Given the description of an element on the screen output the (x, y) to click on. 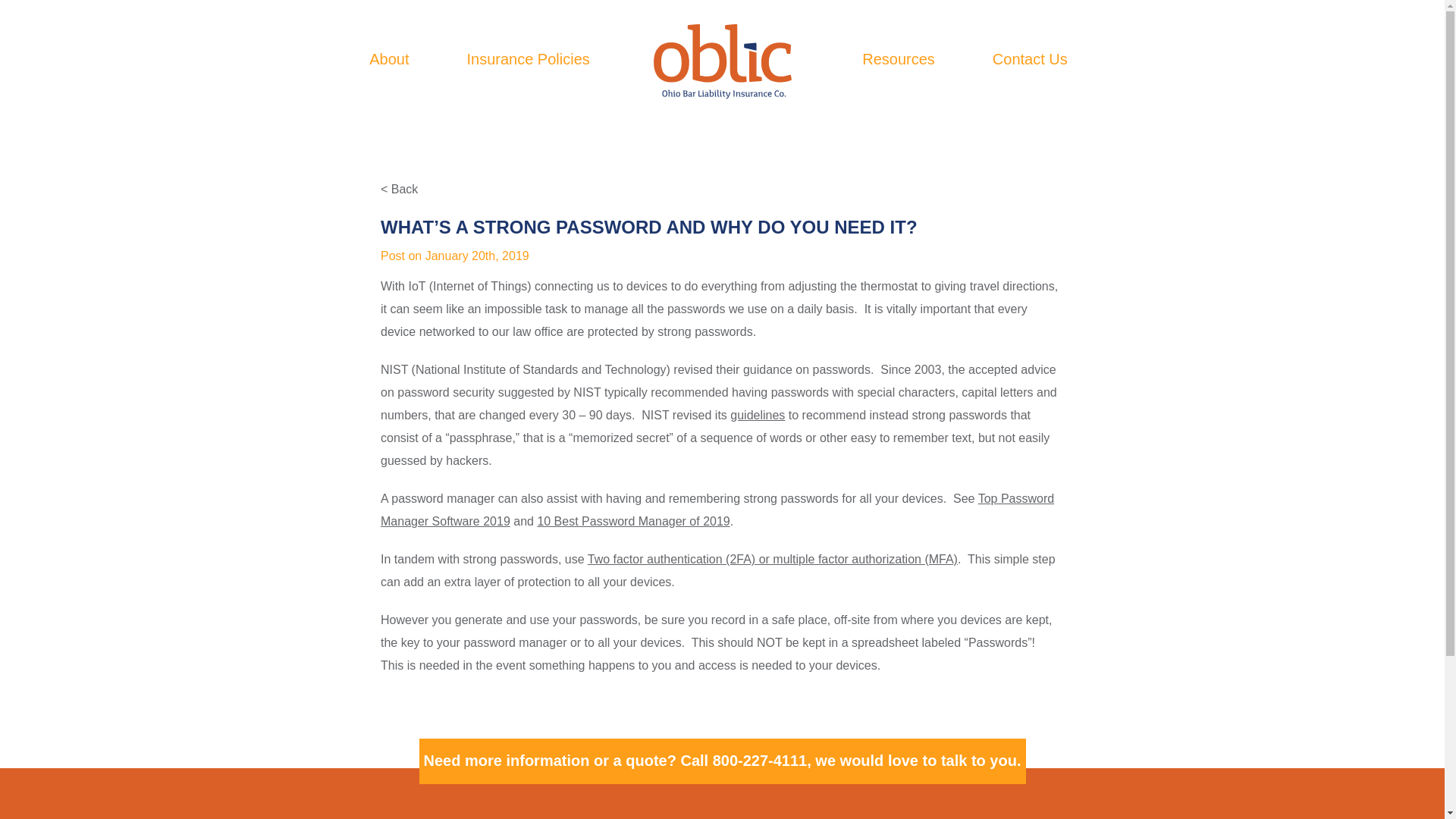
Resources (897, 58)
Insurance Policies (527, 58)
About (389, 58)
